Given the description of an element on the screen output the (x, y) to click on. 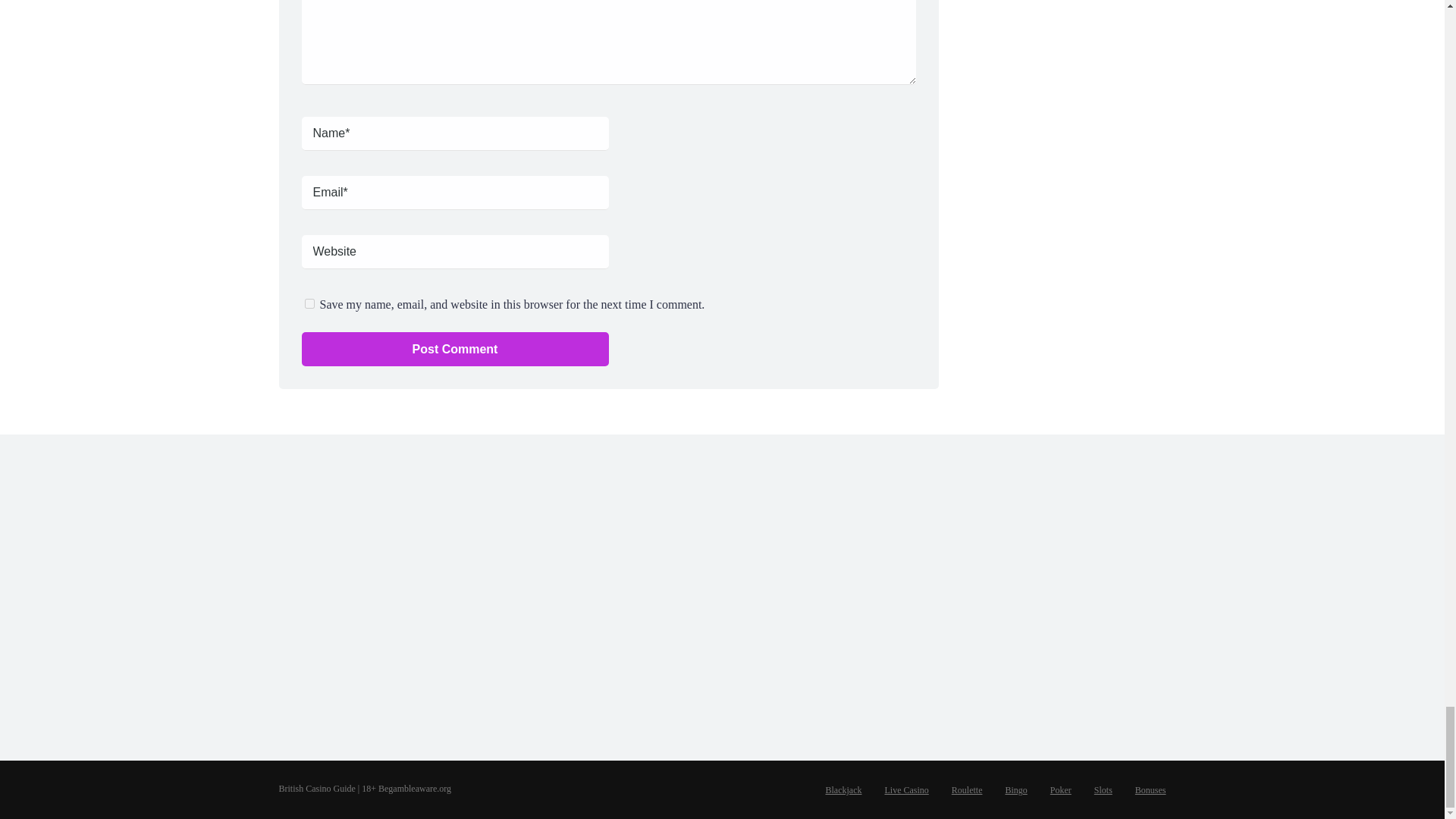
Post Comment (454, 349)
yes (309, 303)
Post Comment (454, 349)
